Given the description of an element on the screen output the (x, y) to click on. 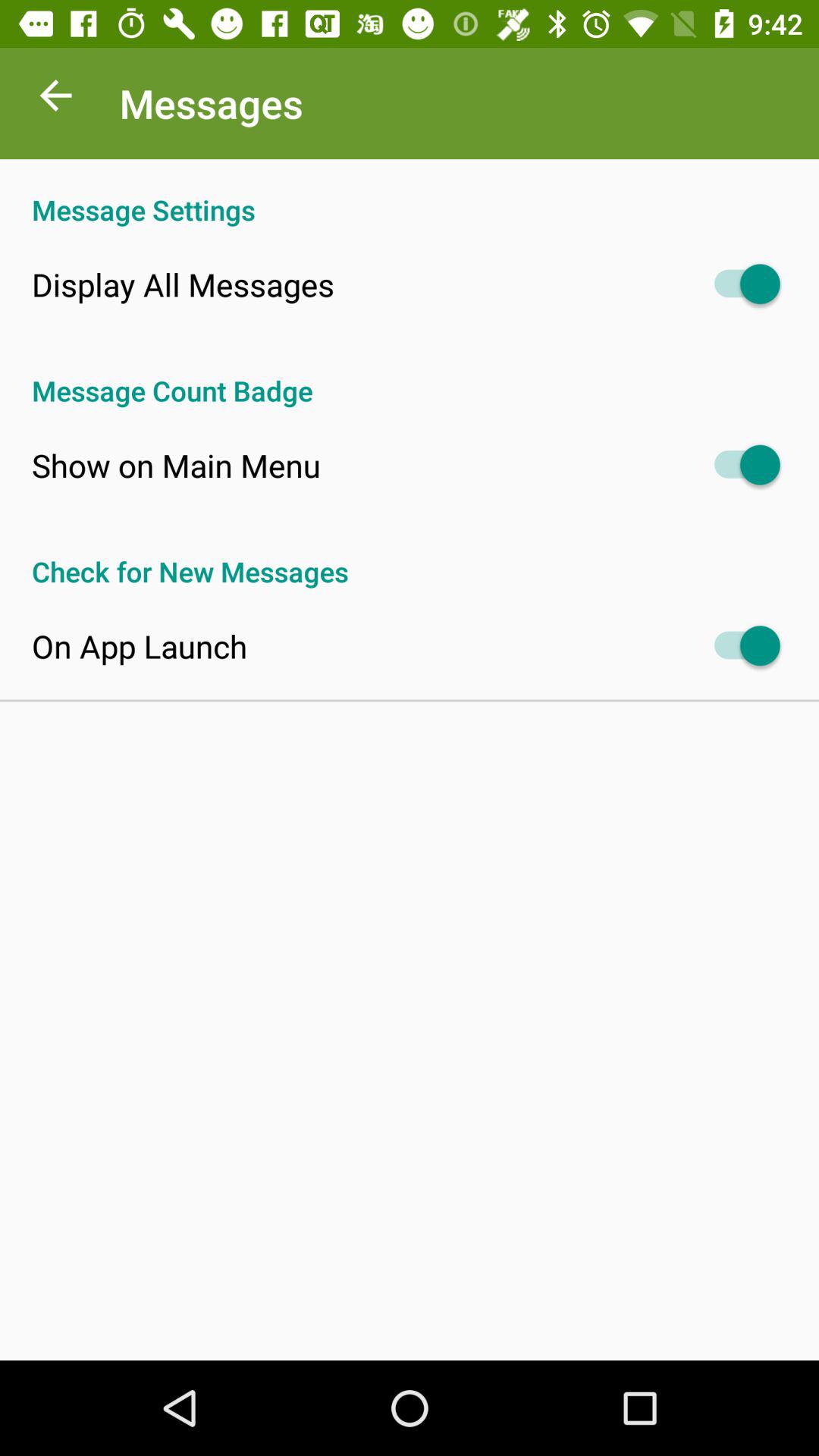
tap icon next to the messages icon (55, 99)
